Given the description of an element on the screen output the (x, y) to click on. 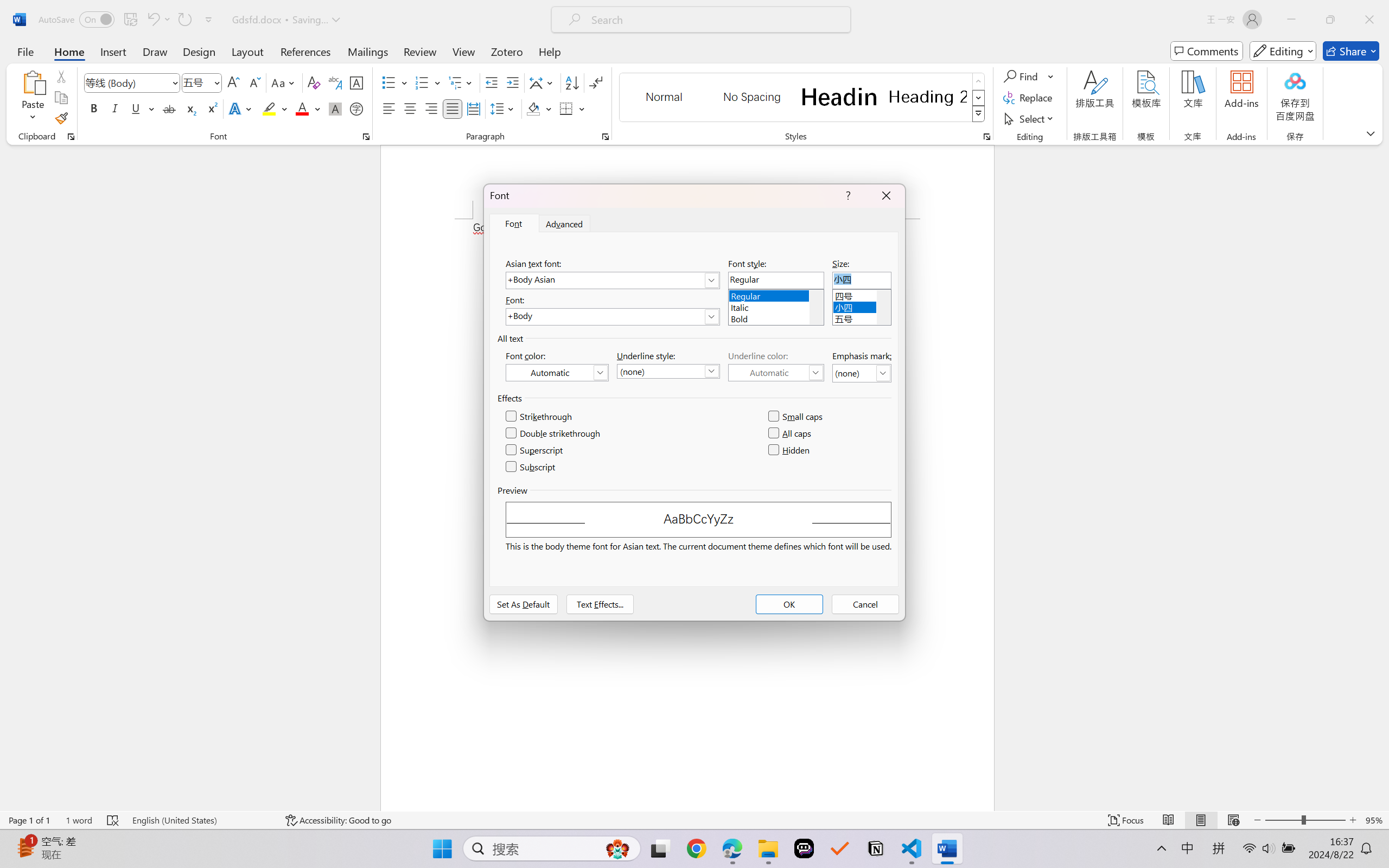
Notion (875, 848)
Undo Style (158, 19)
Shading RGB(0, 0, 0) (533, 108)
Row Down (978, 97)
